Given the description of an element on the screen output the (x, y) to click on. 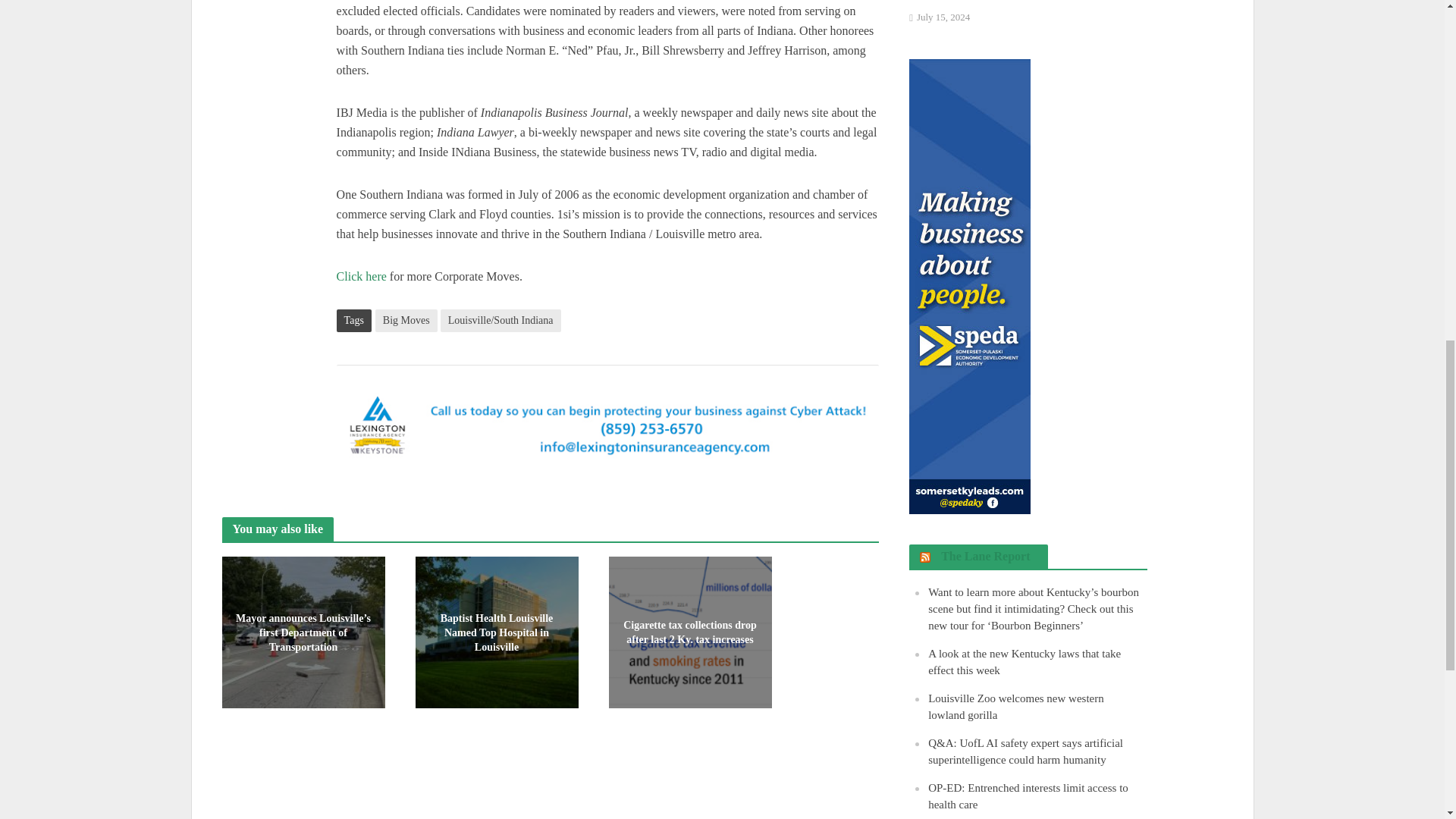
Baptist Health Louisville Named Top Hospital in Louisville (496, 631)
